Given the description of an element on the screen output the (x, y) to click on. 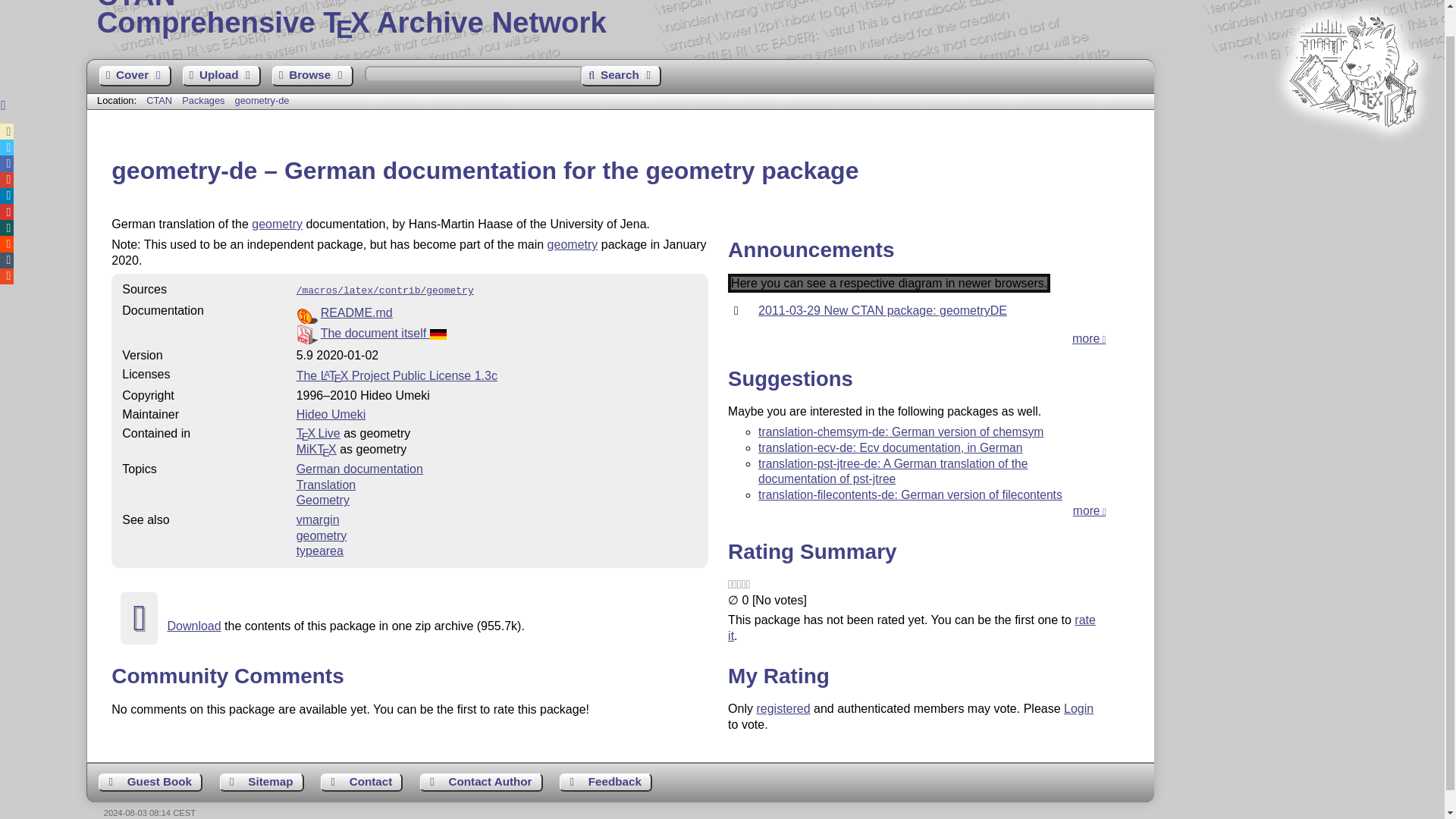
README.md (356, 312)
CTAN lion drawing by Duane Bibby (1353, 155)
CTAN (765, 18)
Portable Document Format (159, 100)
Packages (497, 333)
Search (204, 100)
Hideo Umeki (620, 76)
geometry-de (331, 413)
Upload (261, 100)
Get help on how to contact an author (221, 76)
geometry (481, 782)
geometry (572, 244)
The document itself (276, 223)
